Given the description of an element on the screen output the (x, y) to click on. 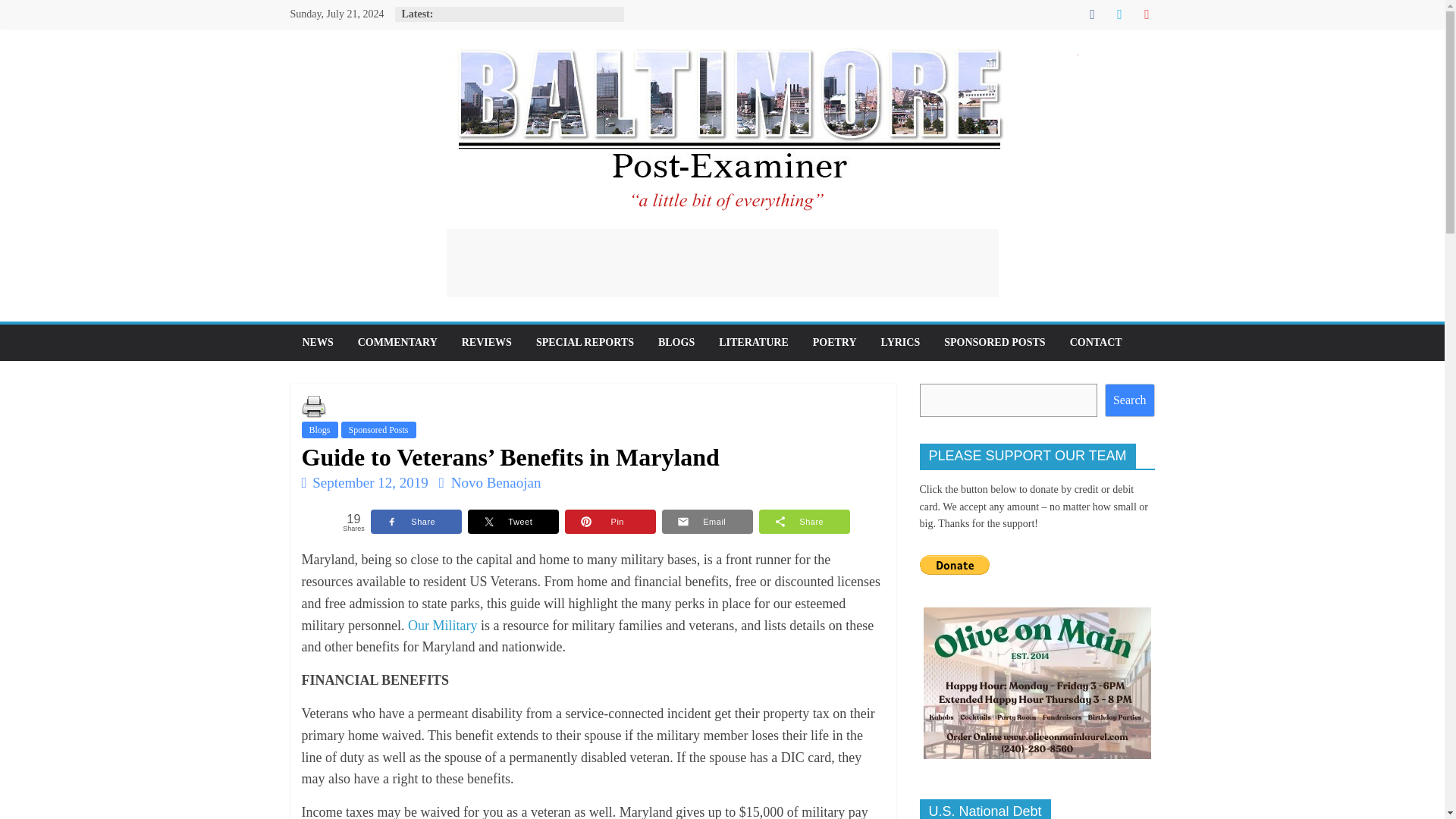
SPONSORED POSTS (994, 342)
REVIEWS (486, 342)
Blogs (319, 429)
COMMENTARY (397, 342)
CONTACT (1096, 342)
Advertisement (721, 263)
NEWS (317, 342)
Novo Benaojan (496, 482)
Our Military (442, 625)
SPECIAL REPORTS (585, 342)
LITERATURE (753, 342)
September 12, 2019 (364, 482)
Search (1129, 400)
Novo Benaojan (496, 482)
LYRICS (901, 342)
